Given the description of an element on the screen output the (x, y) to click on. 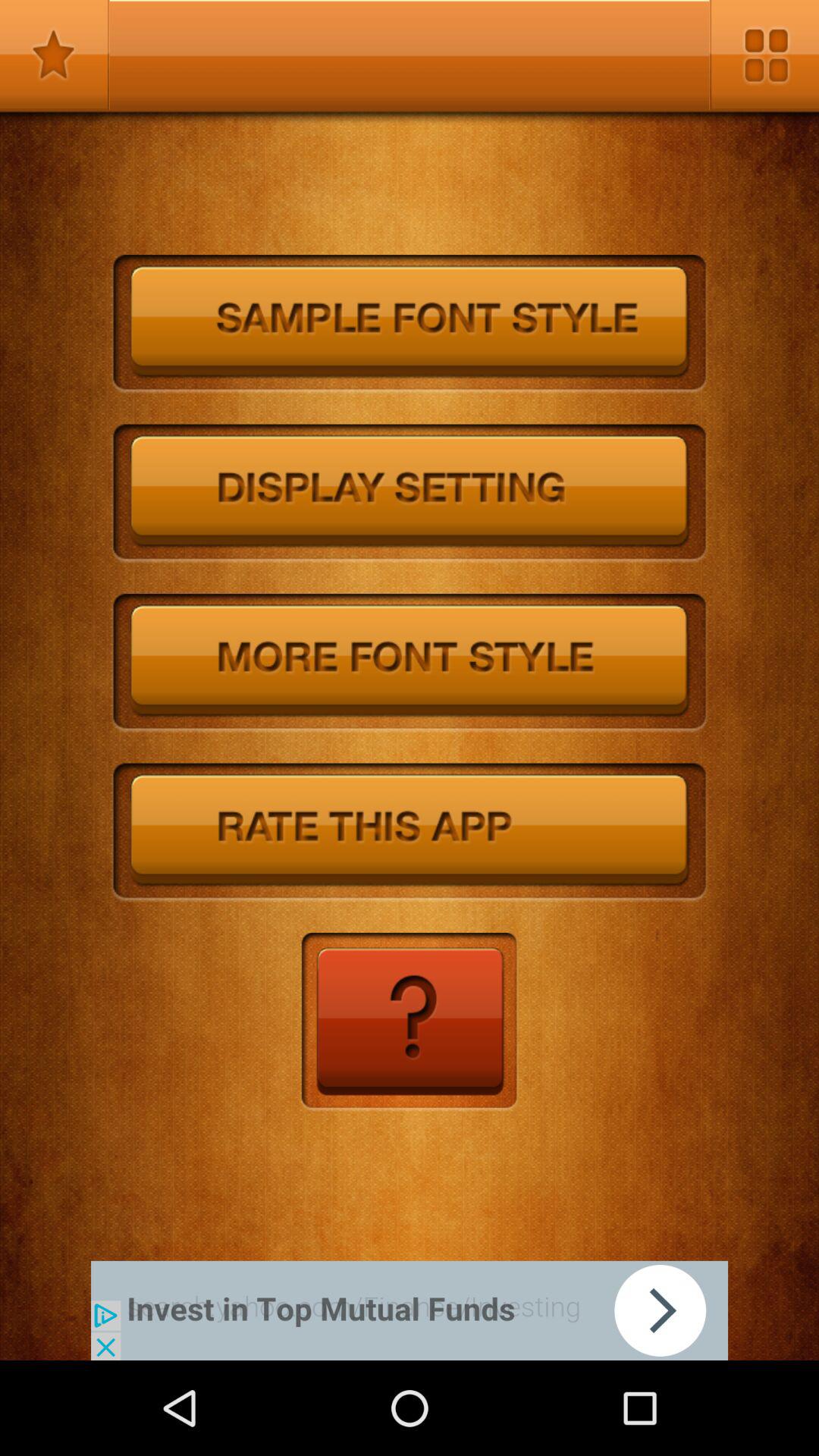
rate the app (409, 832)
